Given the description of an element on the screen output the (x, y) to click on. 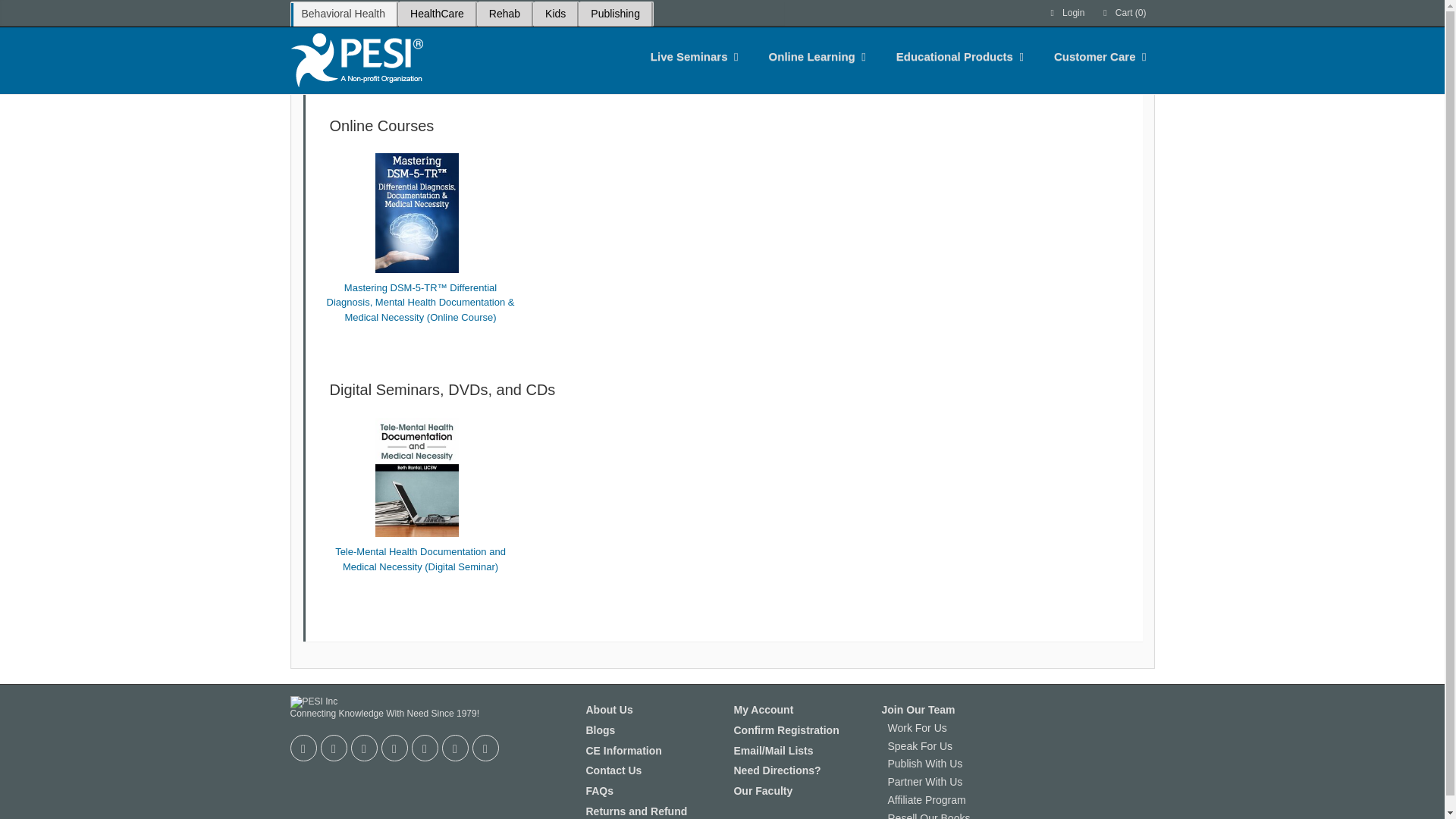
Behavioral Health (342, 14)
Live Seminars (689, 56)
Publishing (614, 14)
HealthCare (437, 14)
Rehab (504, 14)
Kids (555, 14)
Login (1067, 13)
Online Learning (812, 56)
